Given the description of an element on the screen output the (x, y) to click on. 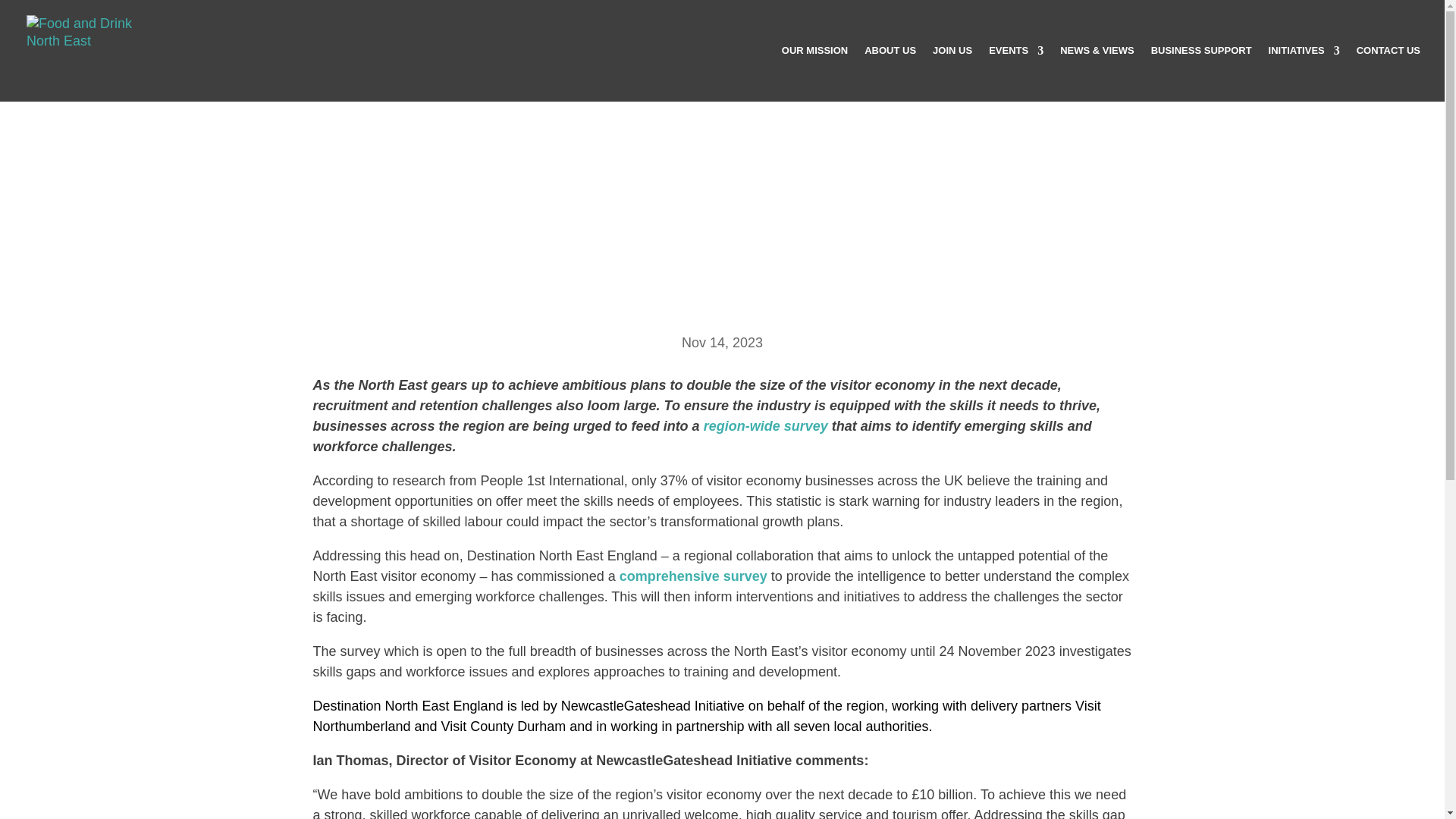
OUR MISSION (814, 73)
EVENTS (1015, 73)
region-wide survey (765, 426)
comprehensive survey (695, 575)
BUSINESS SUPPORT (1201, 73)
JOIN US (952, 73)
INITIATIVES (1303, 73)
ABOUT US (889, 73)
CONTACT US (1388, 73)
